Given the description of an element on the screen output the (x, y) to click on. 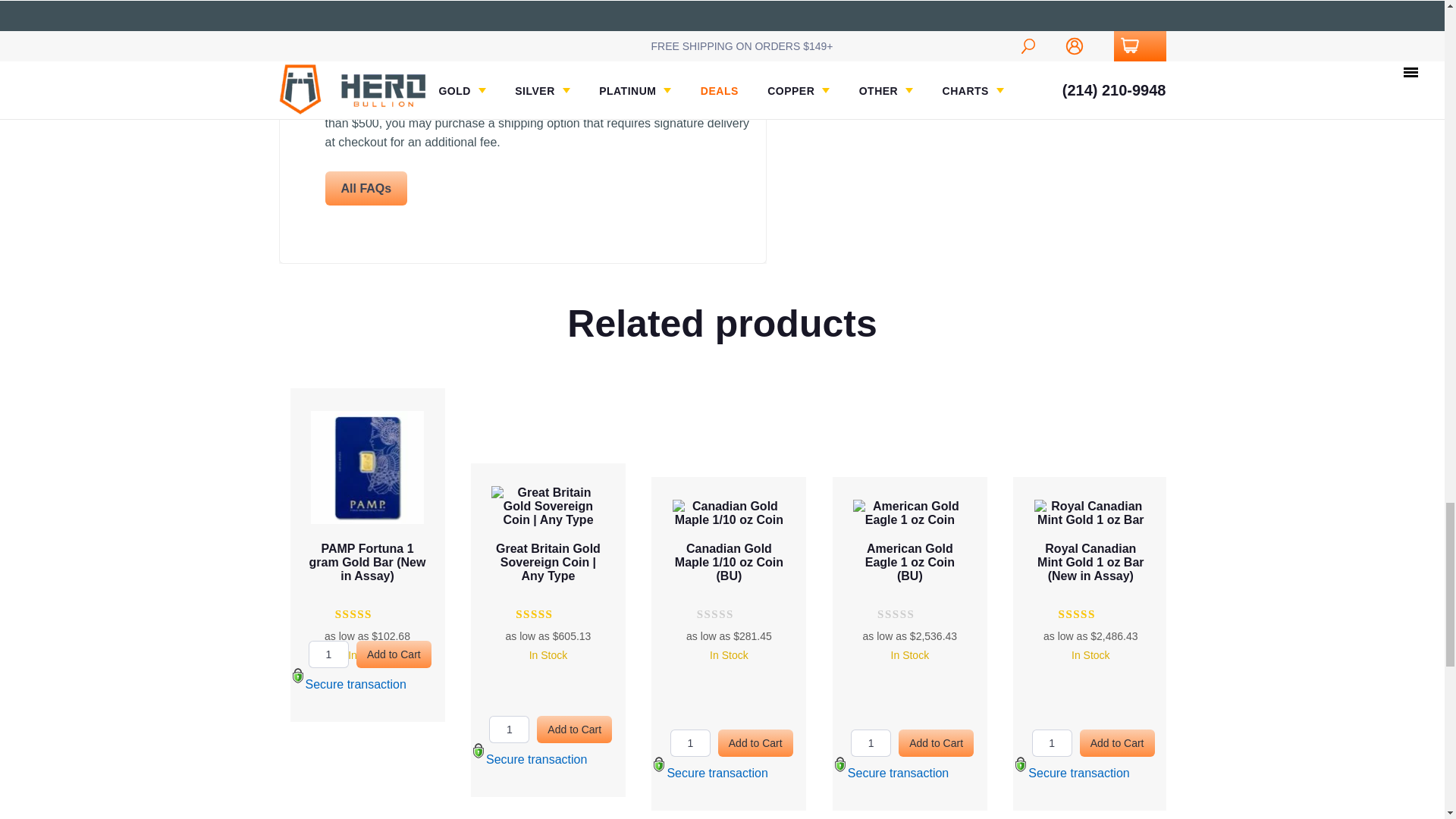
1 (870, 742)
1 (328, 654)
1 (689, 742)
1 (1051, 742)
1 (509, 728)
